Given the description of an element on the screen output the (x, y) to click on. 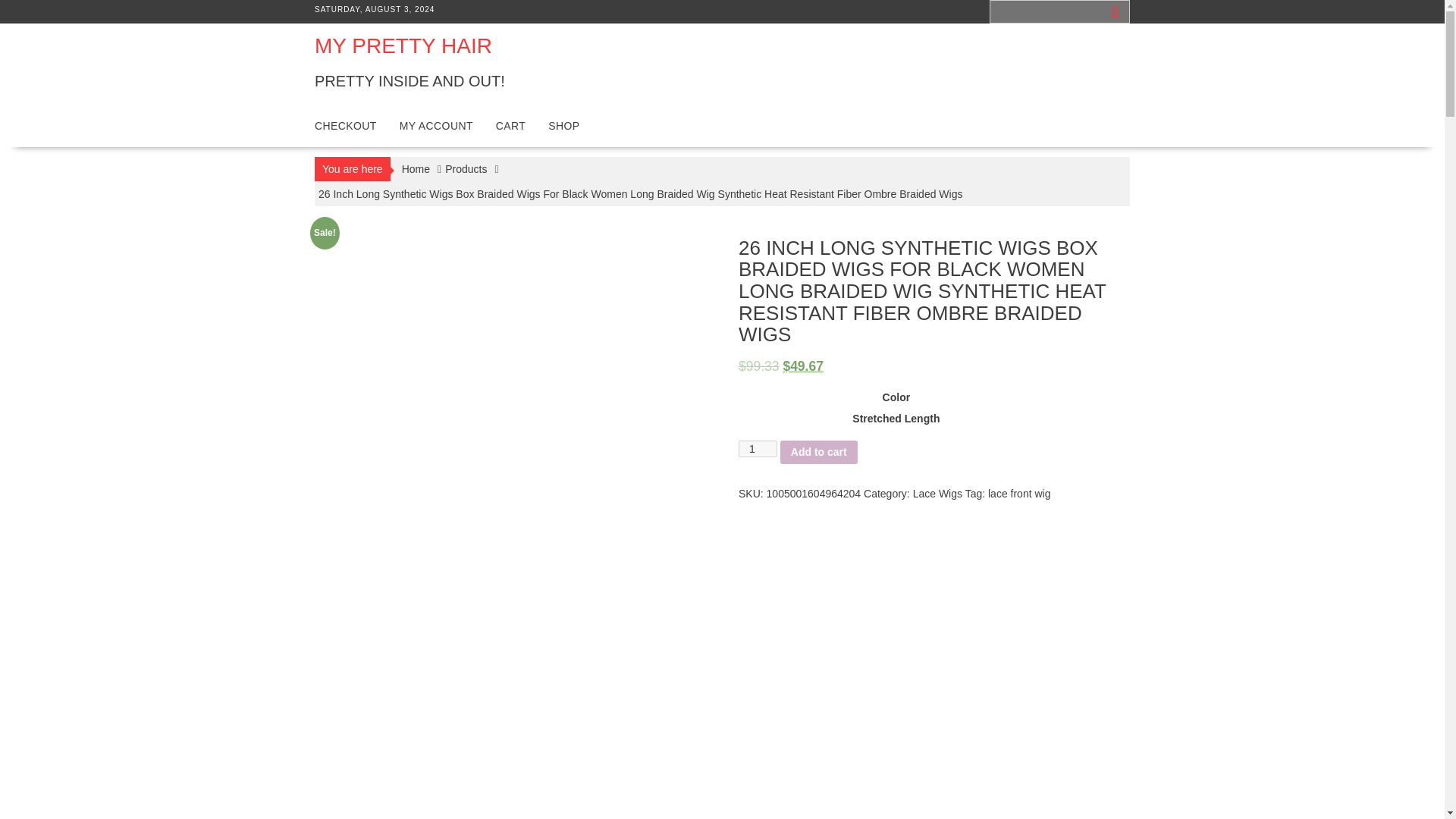
CHECKOUT (345, 125)
Products (465, 168)
SHOP (564, 125)
Add to cart (818, 452)
CART (510, 125)
MY PRETTY HAIR (403, 45)
Lace Wigs (937, 493)
Home (415, 168)
1 (757, 448)
MY ACCOUNT (436, 125)
lace front wig (1018, 493)
